Given the description of an element on the screen output the (x, y) to click on. 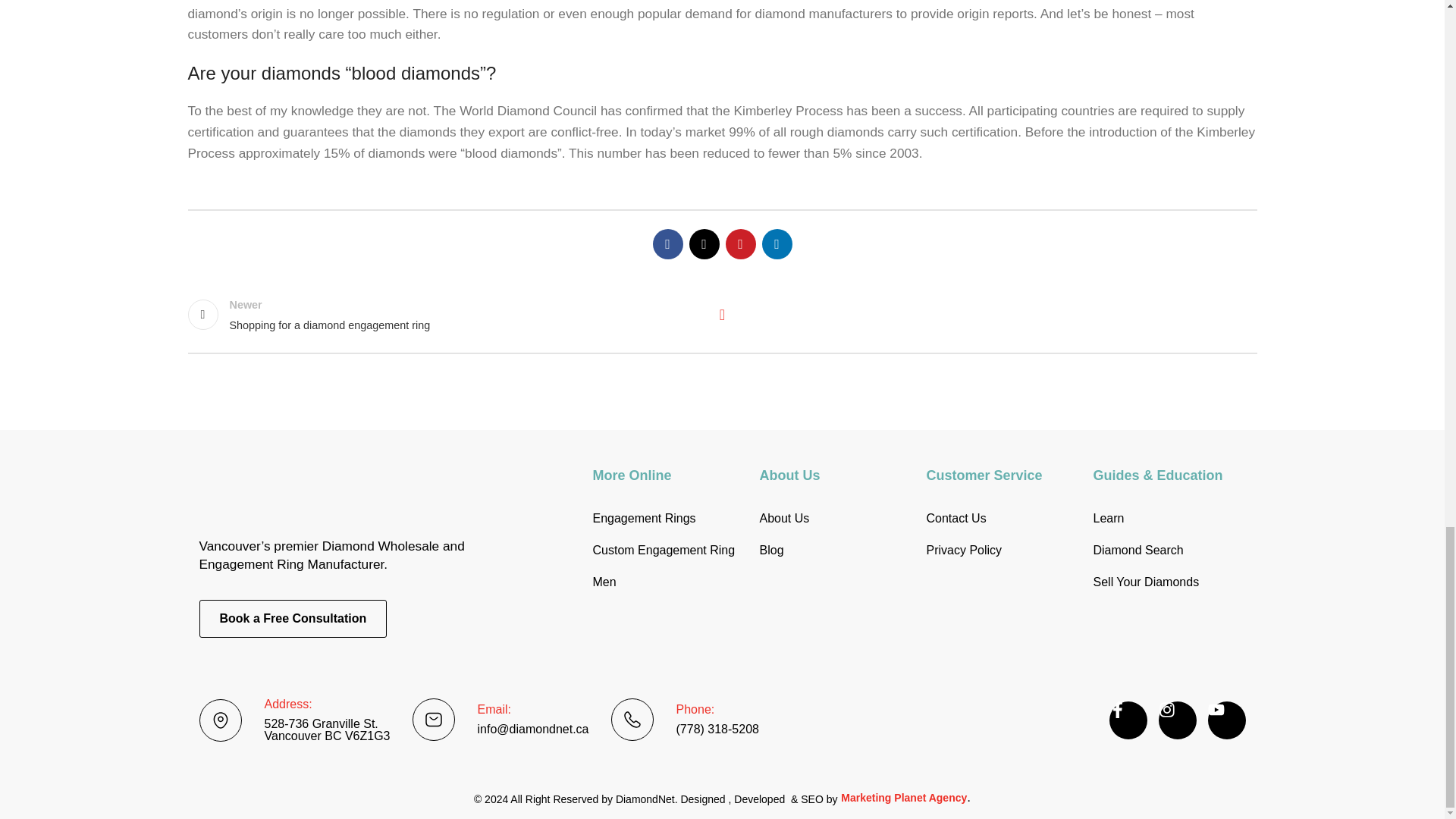
Back to list (721, 314)
Engagement Rings (668, 518)
Men (668, 582)
Custom Engagement Ring (668, 550)
Book a Free Consultation (447, 314)
